Given the description of an element on the screen output the (x, y) to click on. 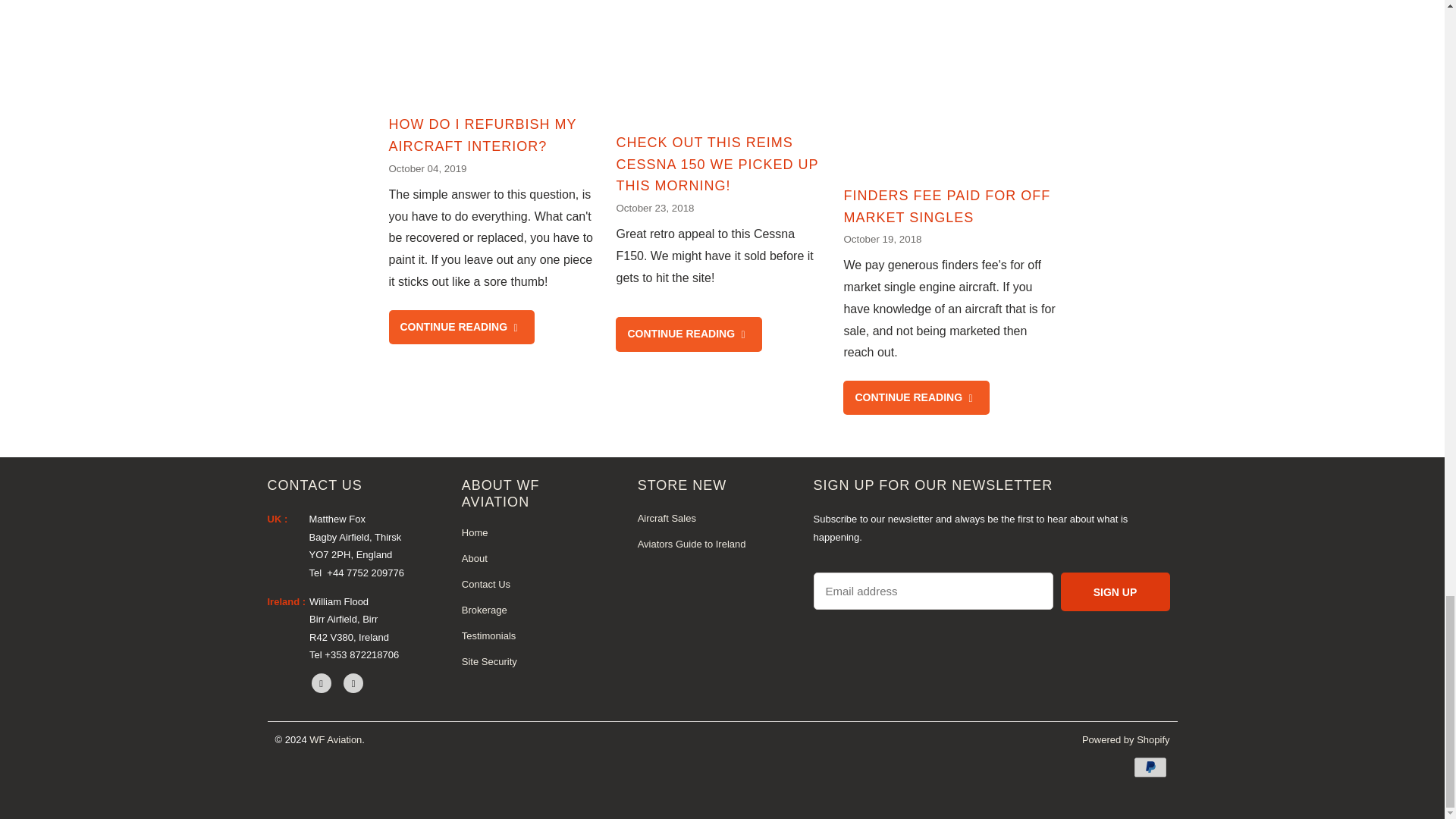
Aircraft Sales (666, 518)
PayPal (1150, 766)
How do I refurbish my aircraft interior? (482, 135)
CONTINUE READING (915, 397)
How do I refurbish my aircraft interior? (461, 326)
Aviators Guide to Ireland (691, 543)
Brokerage (483, 609)
Finders Fee Paid for Off Market Singles (915, 397)
About (474, 558)
Sign Up (1114, 591)
